Given the description of an element on the screen output the (x, y) to click on. 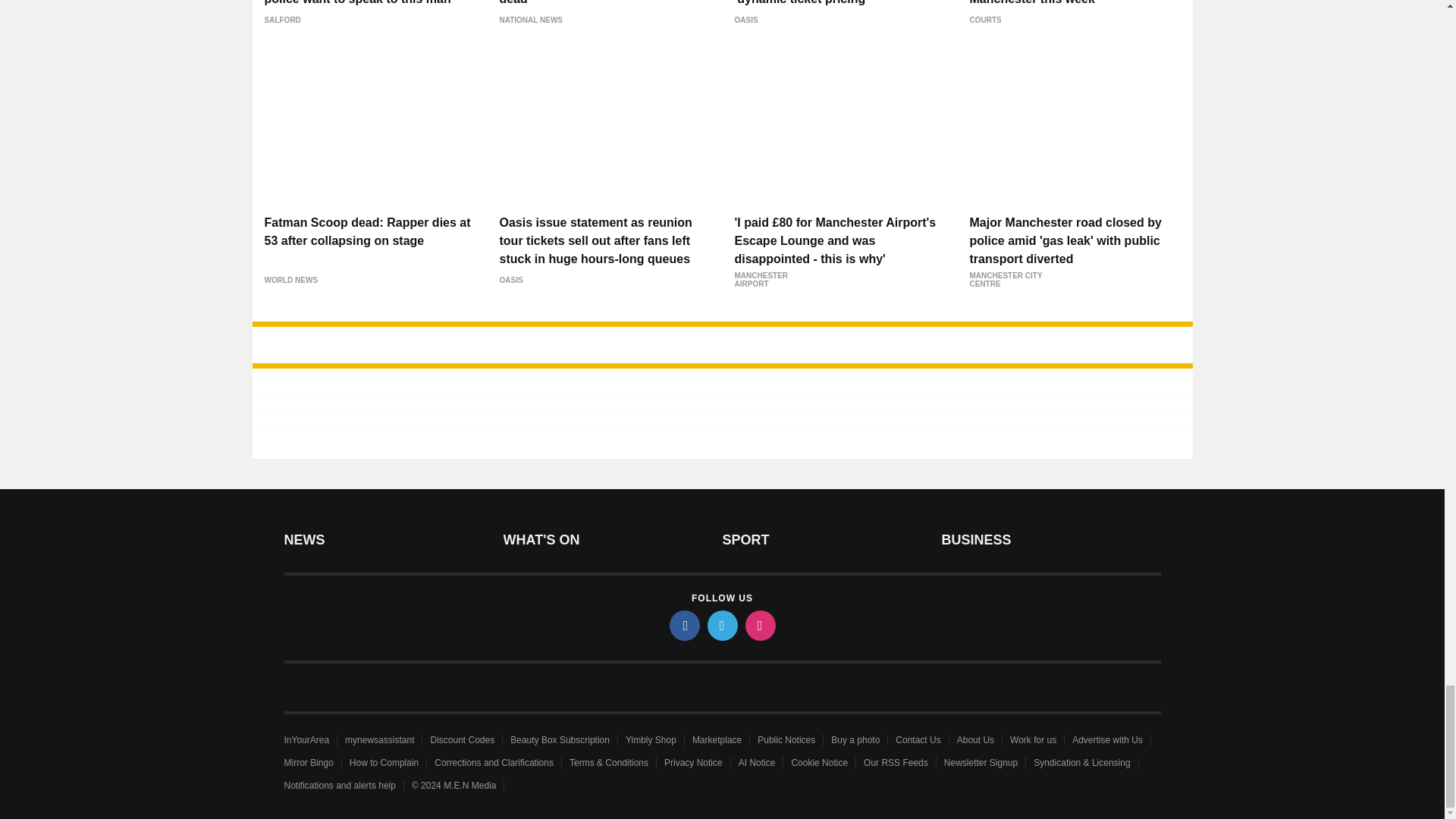
instagram (759, 625)
twitter (721, 625)
facebook (683, 625)
